Given the description of an element on the screen output the (x, y) to click on. 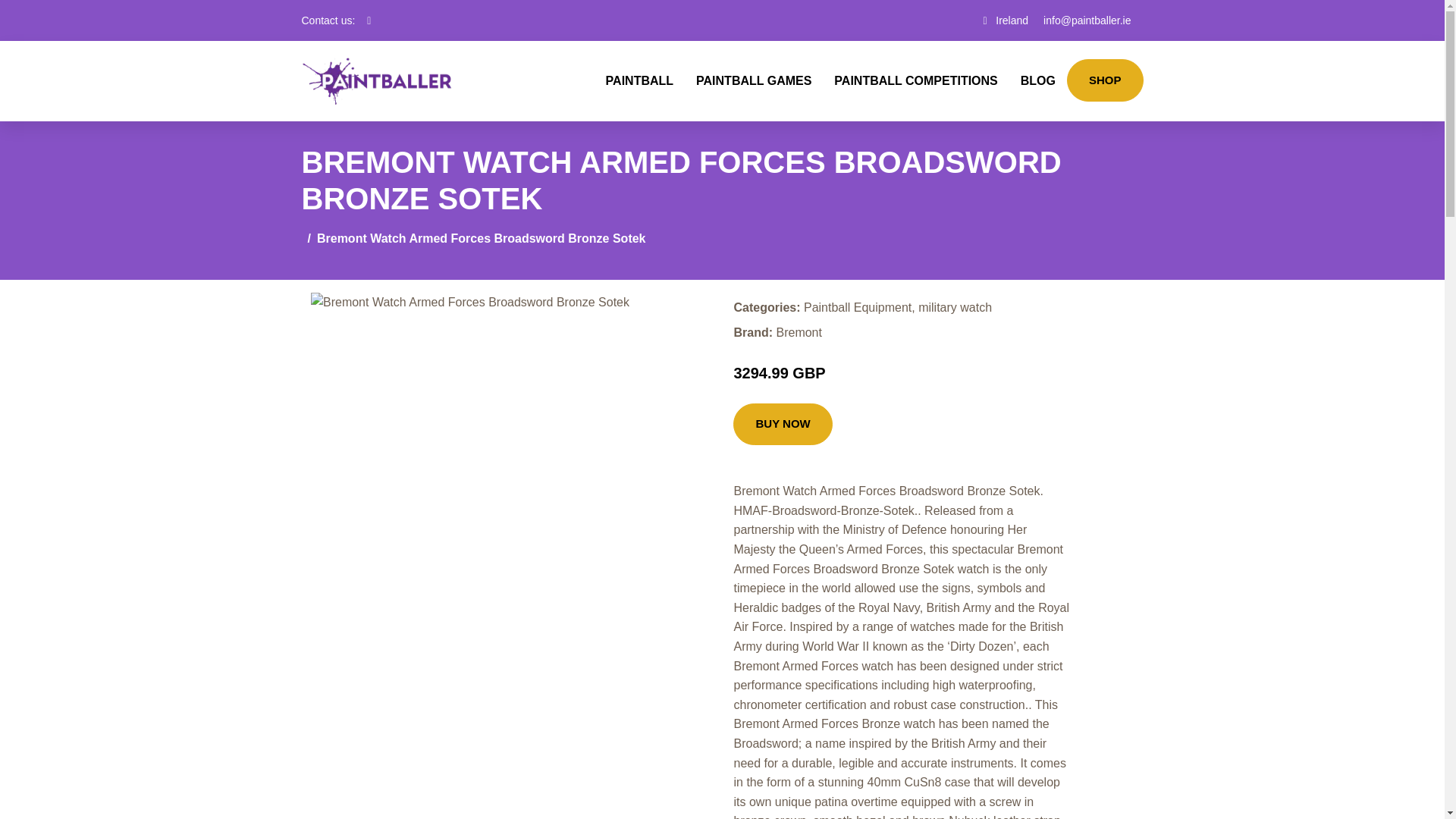
PAINTBALL COMPETITIONS (915, 80)
SHOP (1104, 79)
PAINTBALL GAMES (753, 80)
Ireland (1011, 20)
PAINTBALL (639, 80)
Paintball Equipment (857, 307)
military watch (954, 307)
BUY NOW (782, 424)
